Given the description of an element on the screen output the (x, y) to click on. 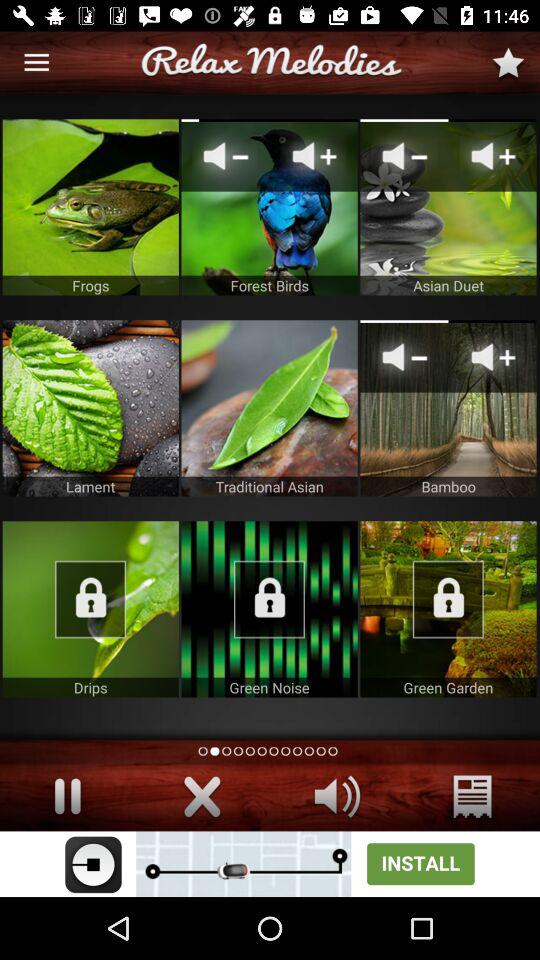
select image (269, 207)
